Given the description of an element on the screen output the (x, y) to click on. 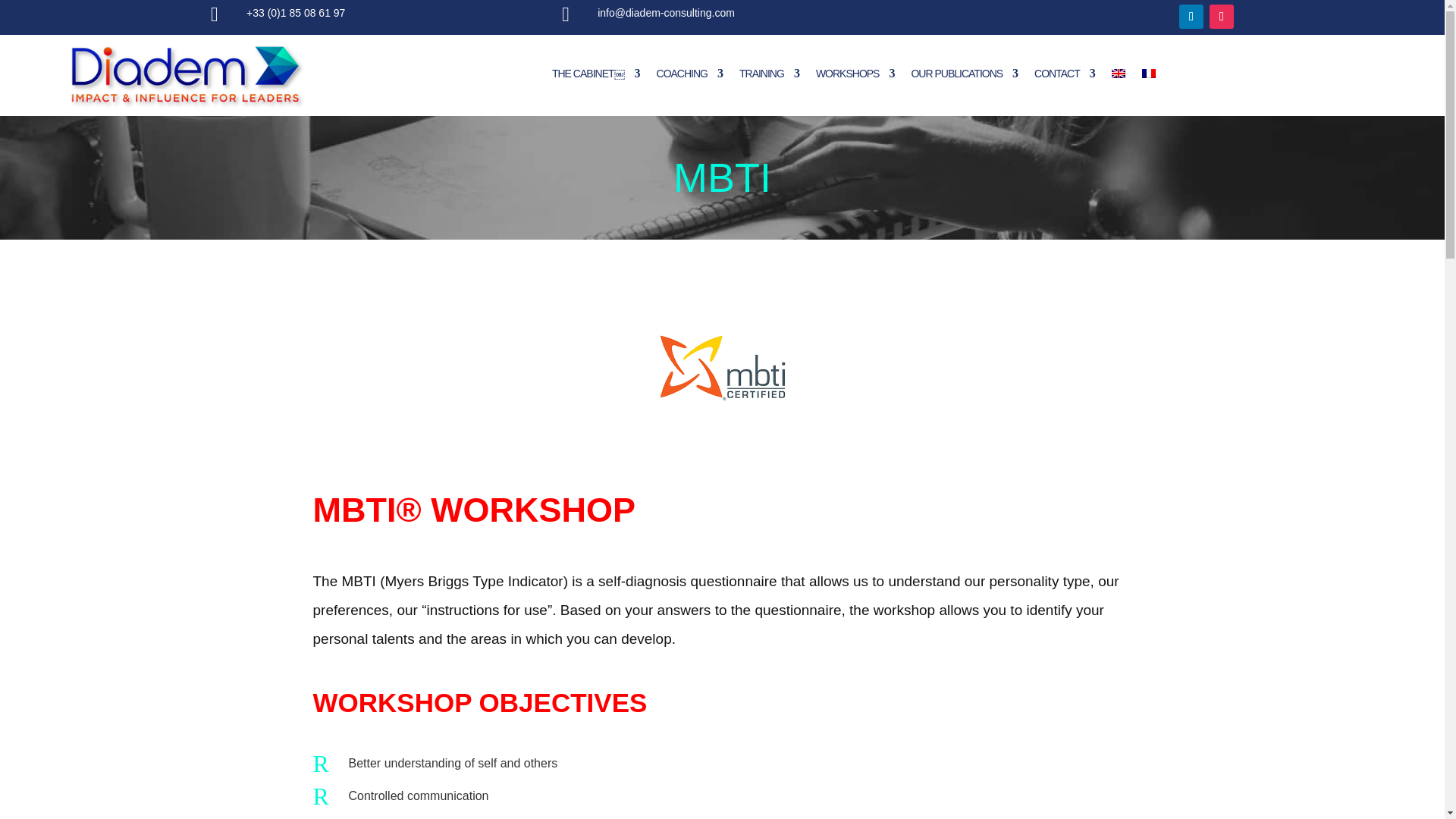
WORKSHOPS (855, 73)
Follow on Instagram (1221, 16)
OUR PUBLICATIONS (964, 73)
Follow on LinkedIn (1191, 16)
mbti (721, 367)
